Given the description of an element on the screen output the (x, y) to click on. 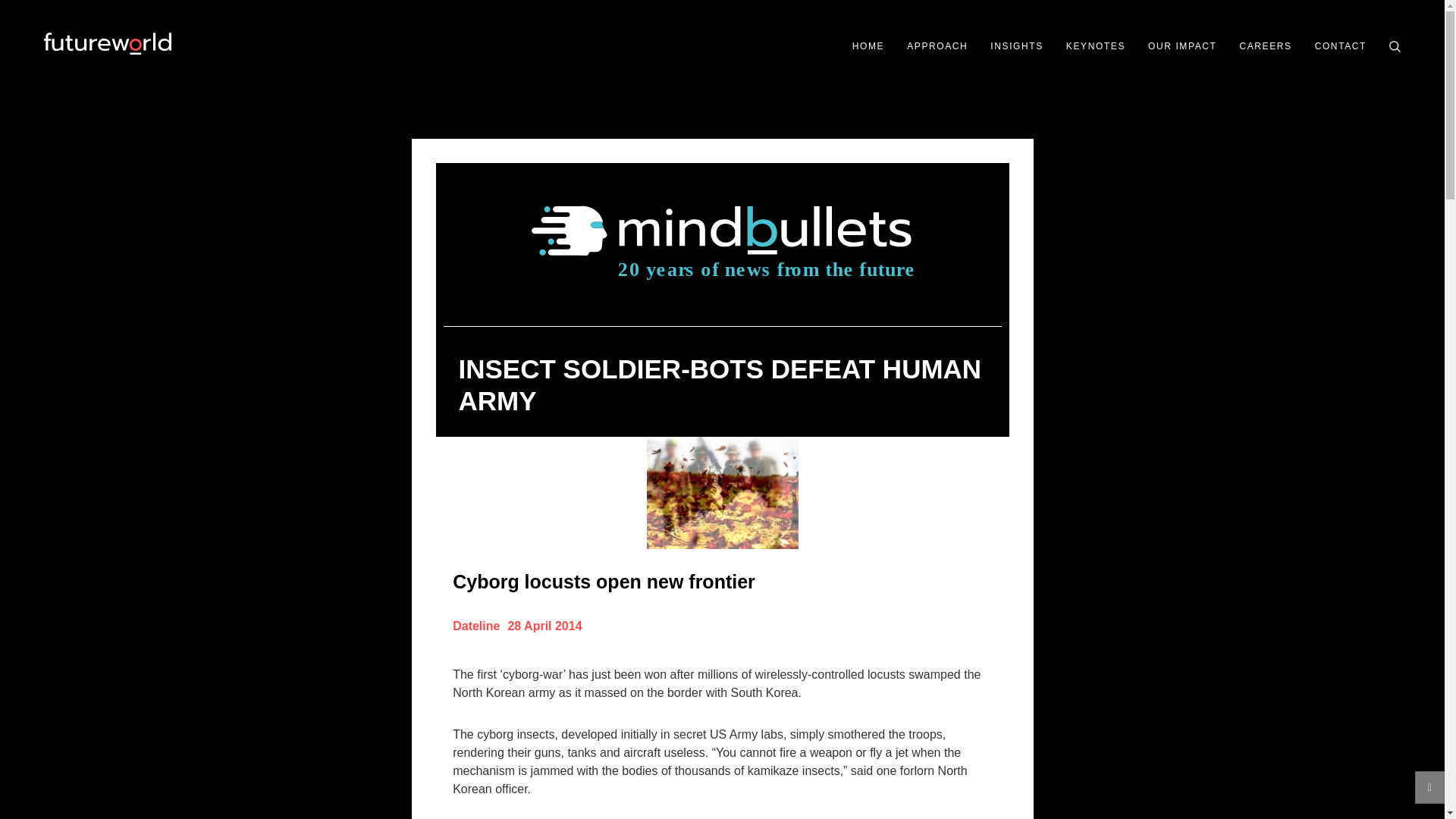
APPROACH (937, 46)
KEYNOTES (1095, 46)
INSIGHTS (1016, 46)
CAREERS (1265, 46)
OUR IMPACT (1181, 46)
HOME (867, 46)
CONTACT (1340, 46)
